Given the description of an element on the screen output the (x, y) to click on. 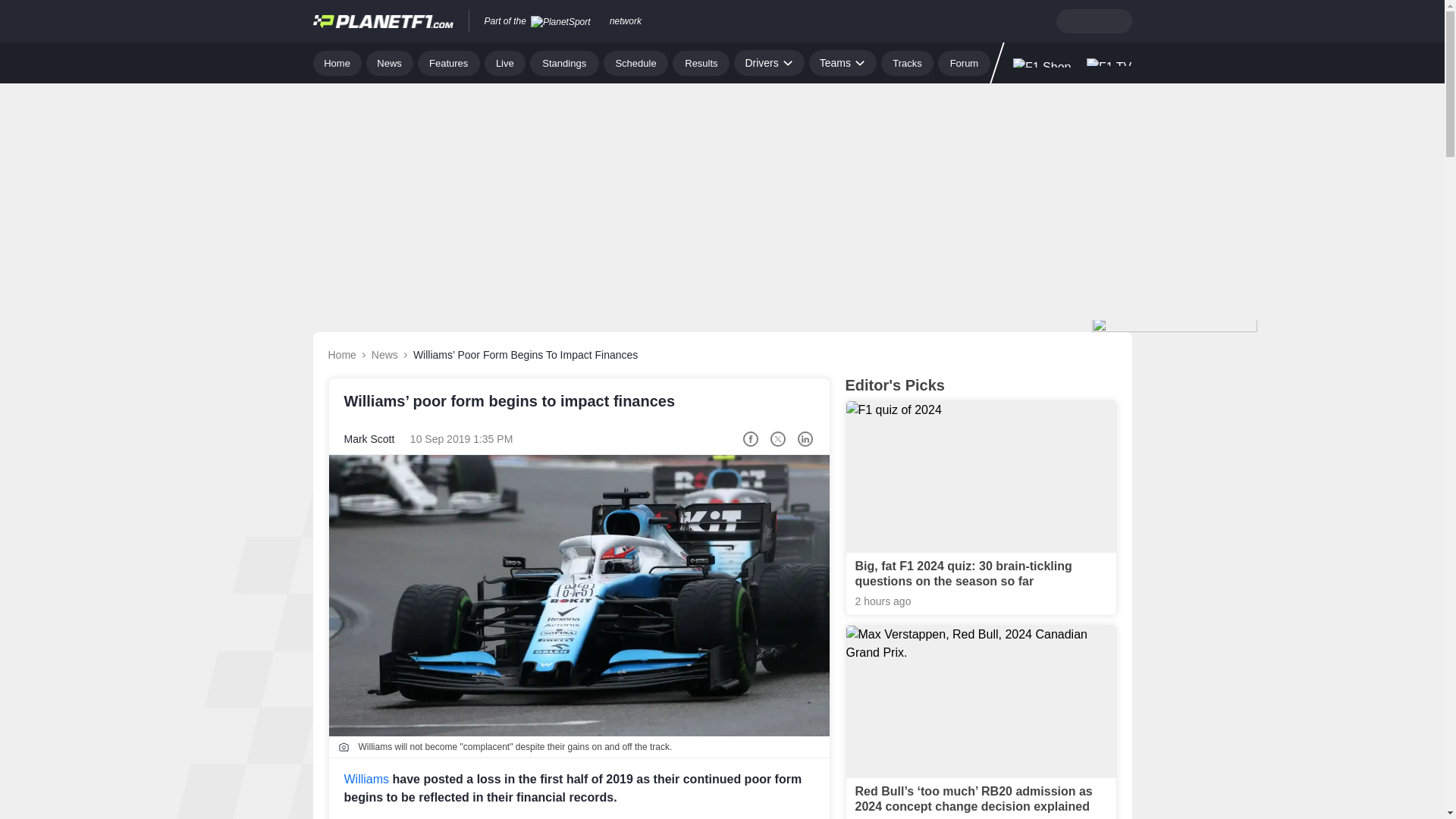
Home (337, 62)
Schedule (636, 62)
Features (448, 62)
News (389, 62)
Live (504, 62)
Drivers (768, 62)
Standings (563, 62)
Teams (842, 62)
Results (700, 62)
